Given the description of an element on the screen output the (x, y) to click on. 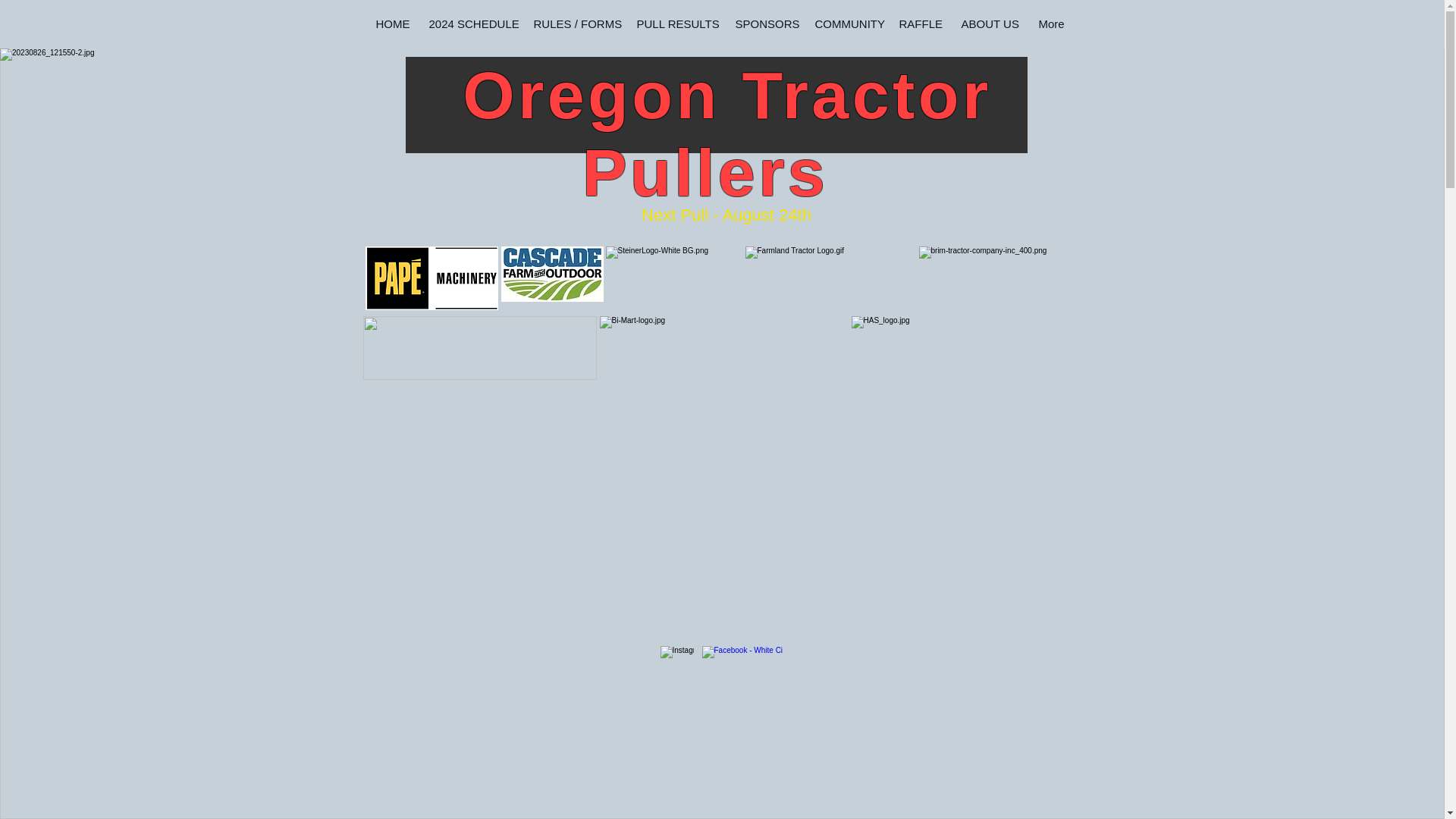
SPONSORS (765, 24)
RAFFLE (919, 24)
2024 SCHEDULE (470, 24)
 Oregon Tractor Pullers  (716, 133)
PULL RESULTS (675, 24)
ABOUT US (988, 24)
COMMUNITY (847, 24)
HOME (392, 24)
